Given the description of an element on the screen output the (x, y) to click on. 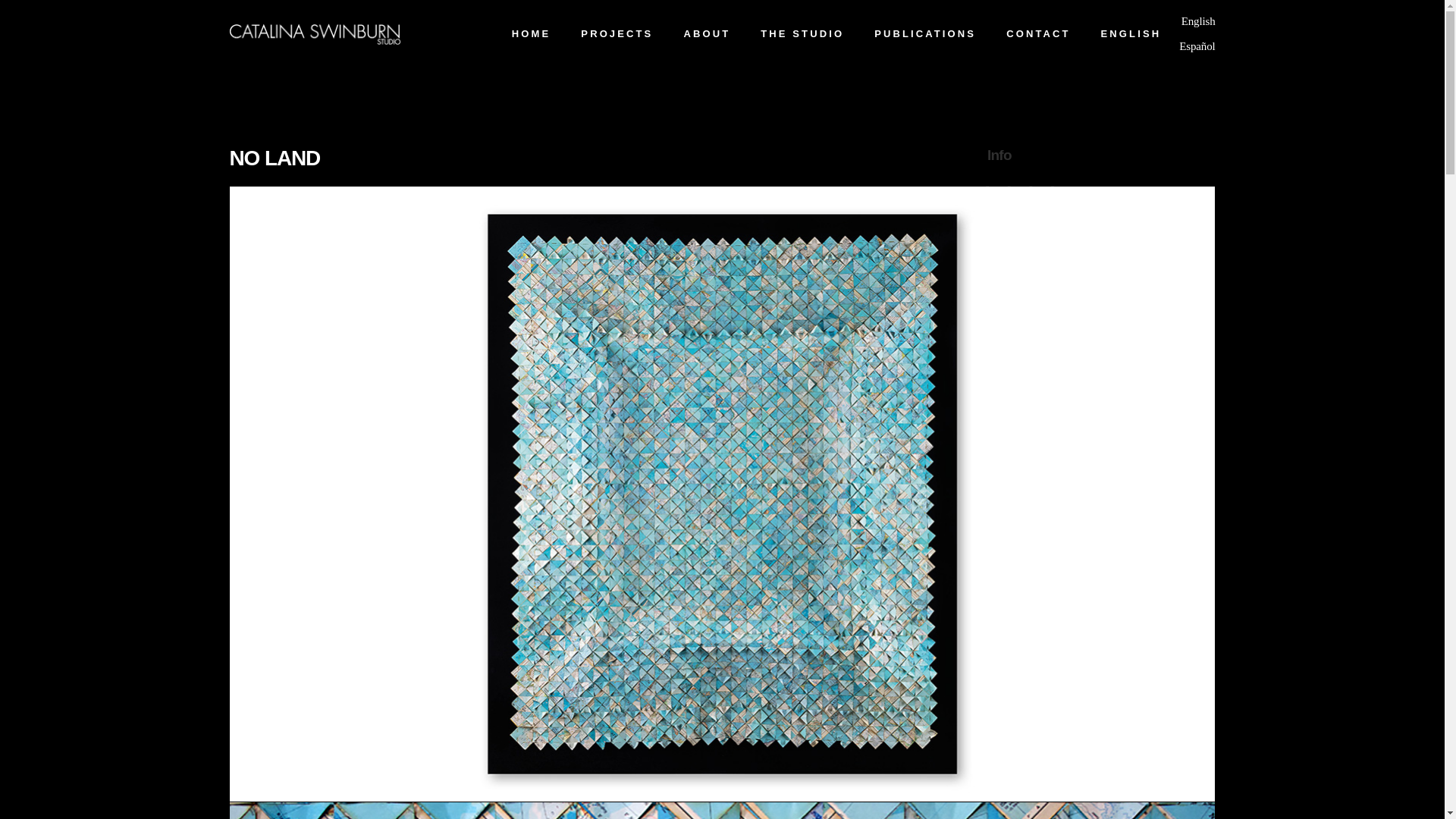
HOME (531, 33)
CONTACT (1037, 33)
ABOUT (706, 33)
ENGLISH (1131, 33)
THE STUDIO (802, 33)
English (1197, 21)
PROJECTS (617, 33)
PUBLICATIONS (925, 33)
